Given the description of an element on the screen output the (x, y) to click on. 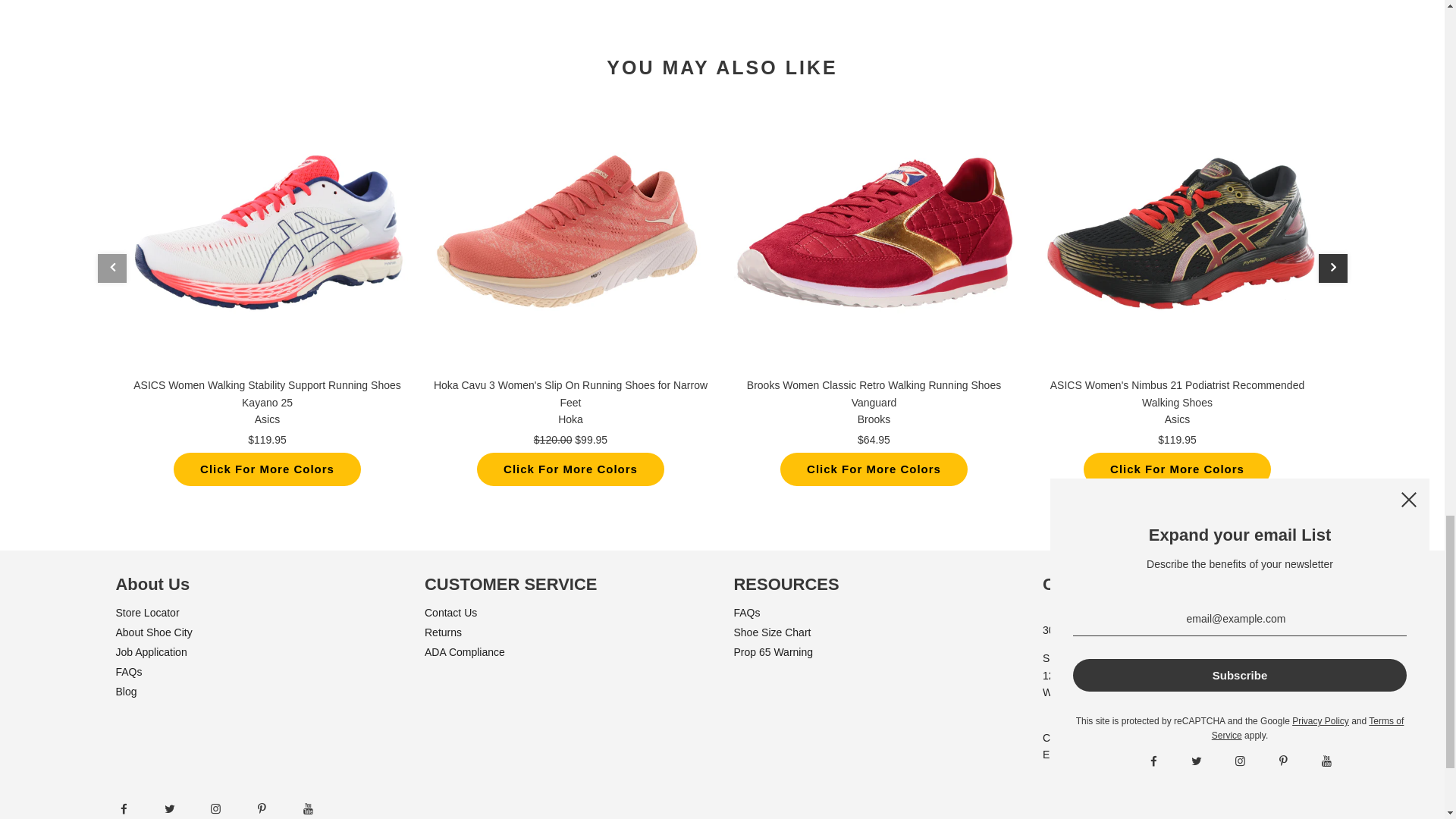
ASICS Women's Nimbus 21 Podiatrist Recommended Walking Shoes (1176, 232)
Brooks Women Classic Retro Walking Running Shoes Vanguard (873, 232)
Hoka Cavu 3 Women's Slip On Running Shoes for Narrow Feet (570, 232)
